Given the description of an element on the screen output the (x, y) to click on. 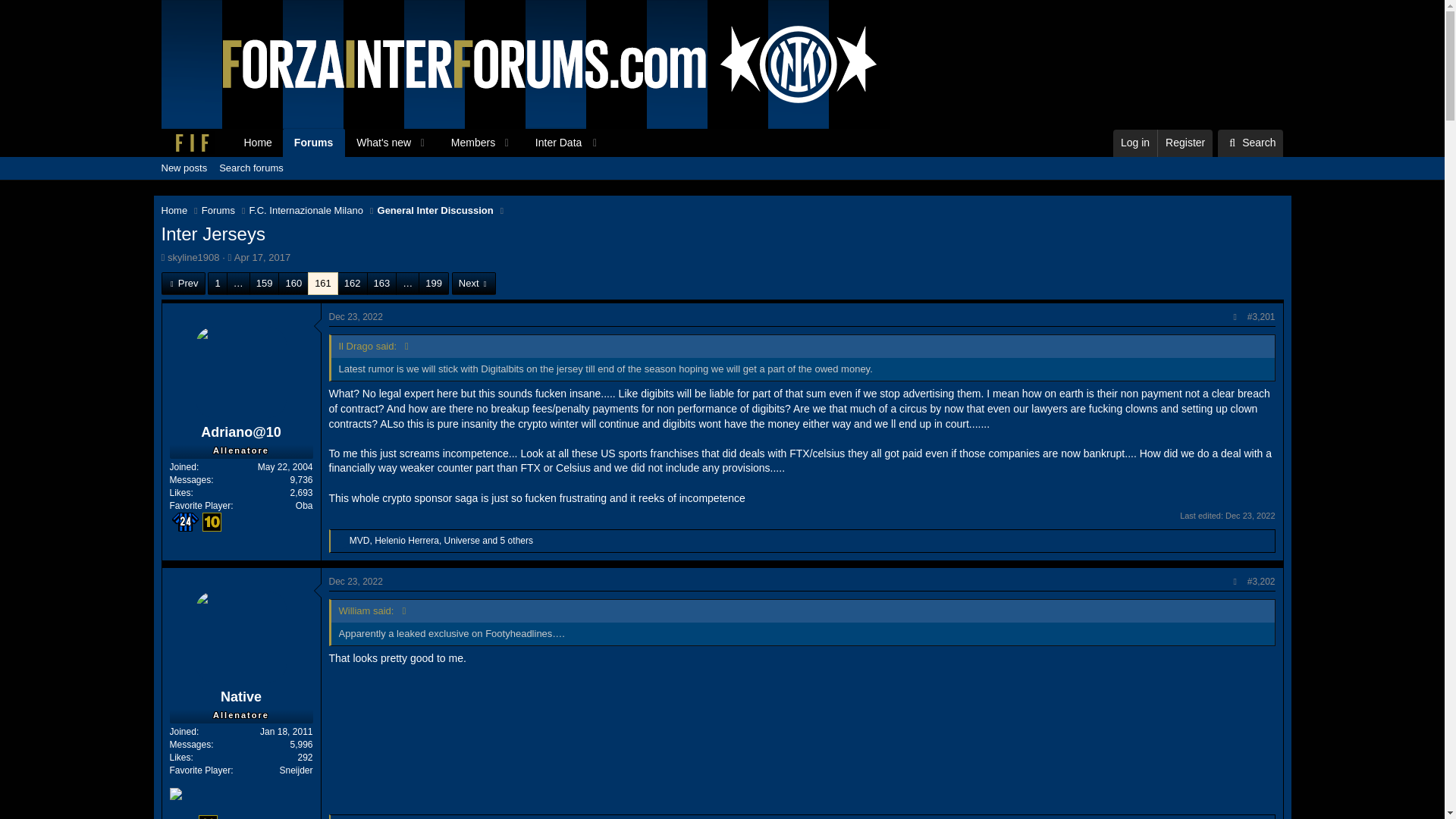
Register (1184, 143)
What's new (378, 143)
Forums (218, 210)
Log in (1135, 143)
Like (340, 541)
Members (467, 143)
Dec 23, 2022 at 11:58 AM (1250, 515)
Go to page (407, 283)
Dec 23, 2022 at 1:24 PM (355, 581)
Search (1249, 143)
